Given the description of an element on the screen output the (x, y) to click on. 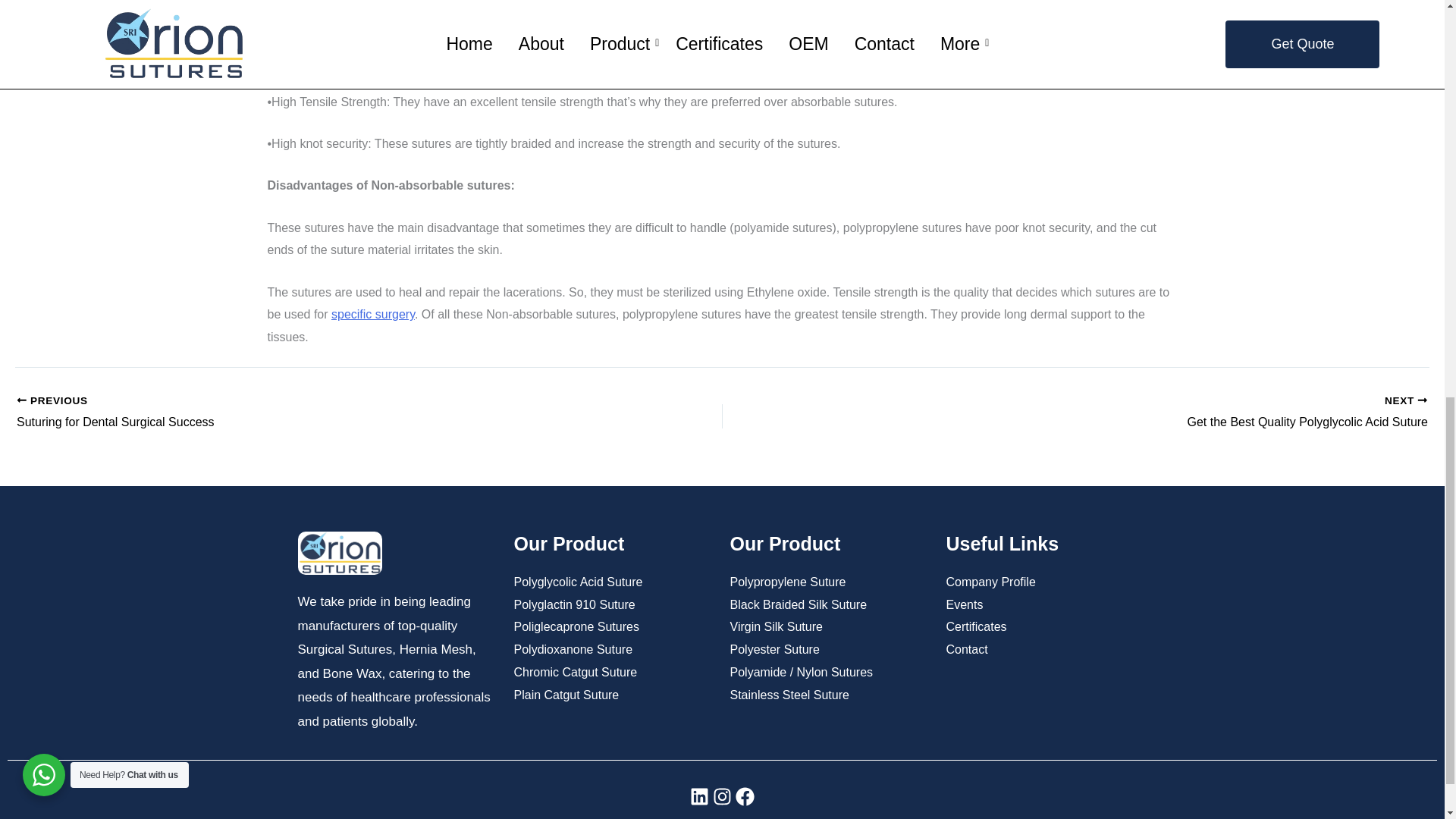
Get the Best Quality Polyglycolic Acid Suture (1144, 413)
Suturing for Dental Surgical Success (299, 413)
